Given the description of an element on the screen output the (x, y) to click on. 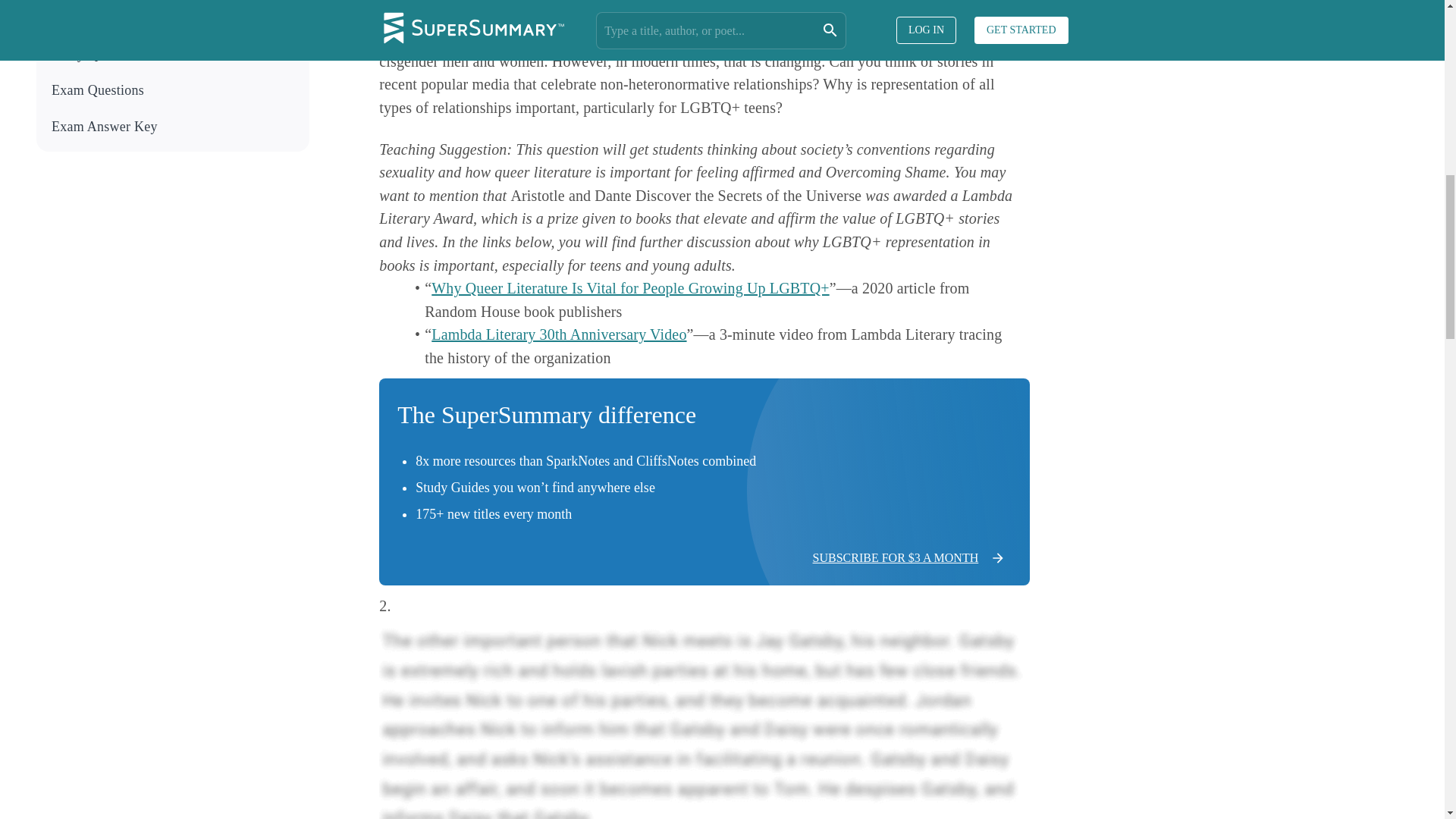
Exam Answer Key (173, 126)
Exam Questions (173, 90)
Essay Questions (173, 54)
Essay Questions (172, 54)
Exam Questions (172, 90)
Exam Answer Key (172, 126)
Activity (173, 18)
Lambda Literary 30th Anniversary Video (557, 334)
Activity (172, 18)
SUBSCRIBE (1290, 98)
